Given the description of an element on the screen output the (x, y) to click on. 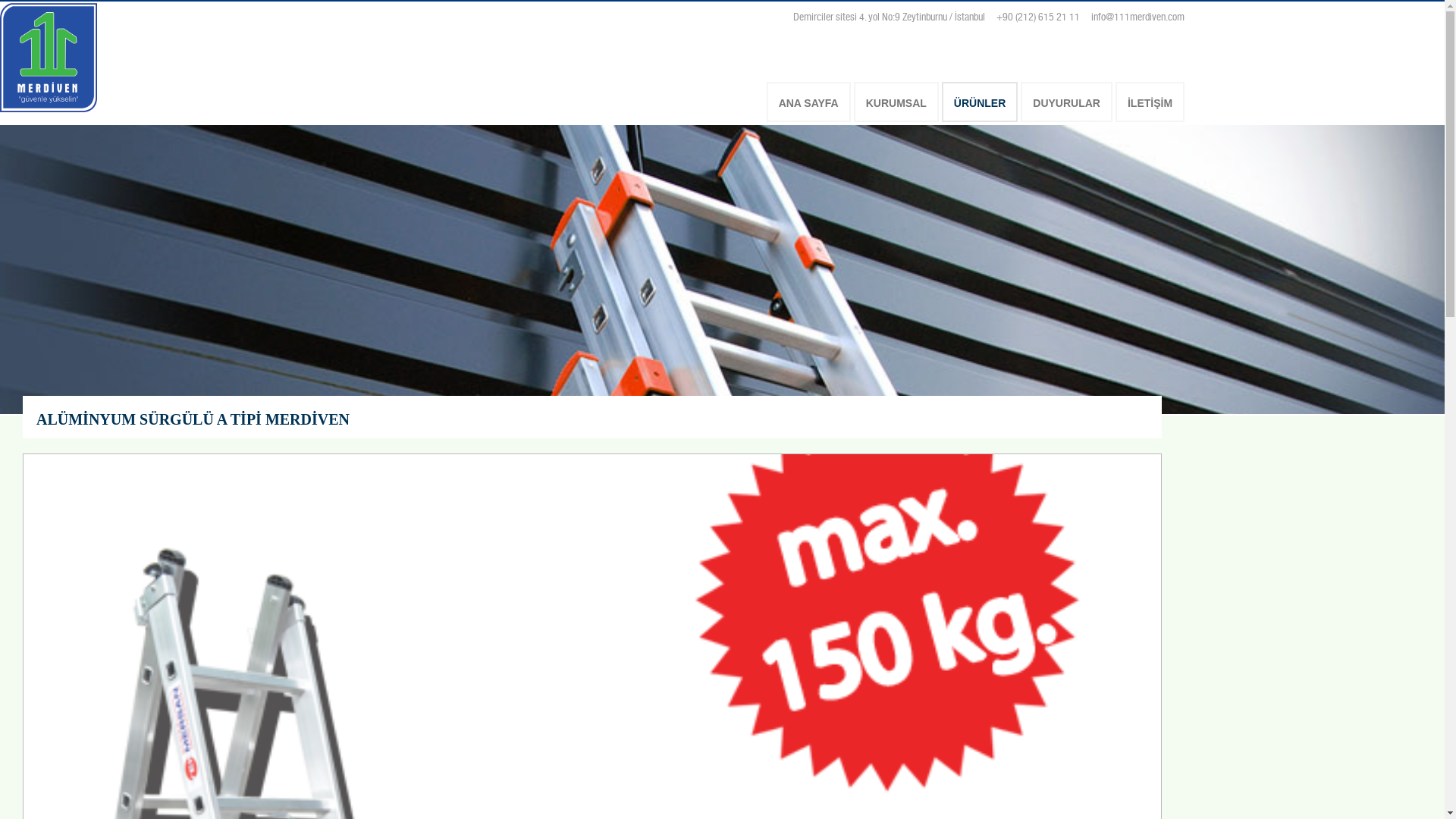
DUYURULAR Element type: text (1066, 101)
ANA SAYFA Element type: text (808, 101)
KURUMSAL Element type: text (895, 101)
